Given the description of an element on the screen output the (x, y) to click on. 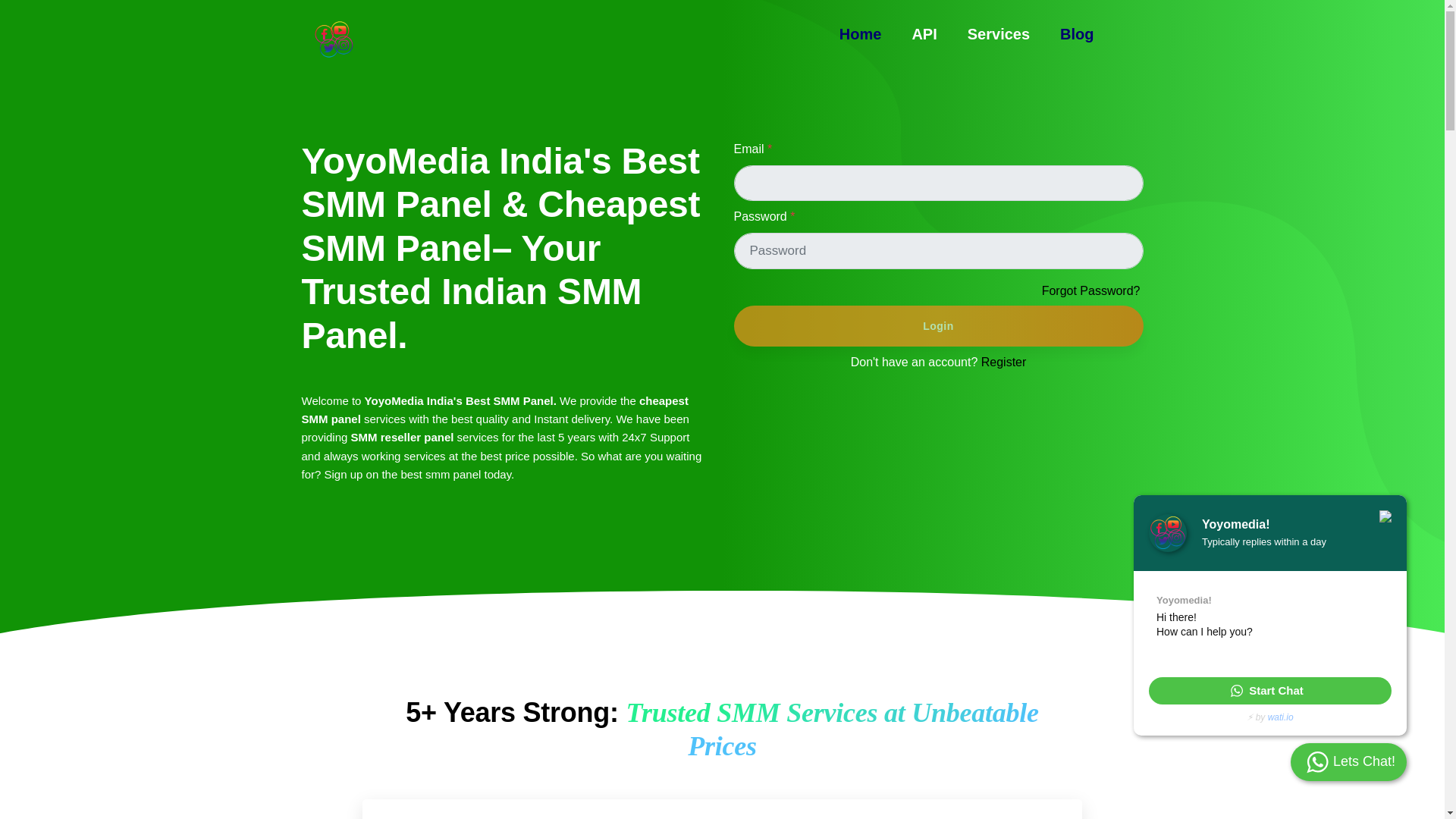
Register (1003, 361)
WhatsApp (1269, 690)
Services (997, 34)
Login (937, 325)
Forgot Password? (1092, 291)
